Given the description of an element on the screen output the (x, y) to click on. 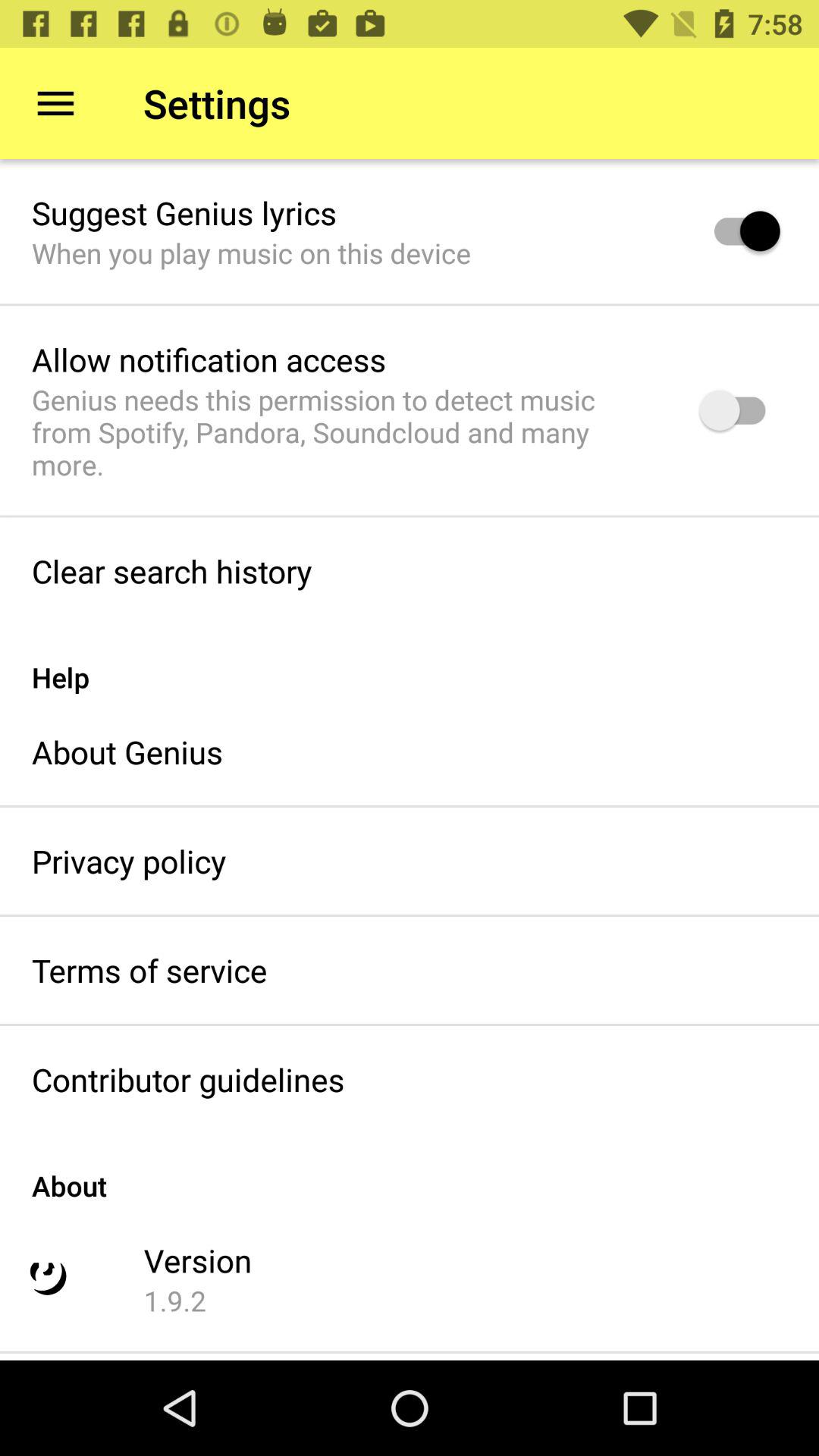
press the help at the center (409, 661)
